Given the description of an element on the screen output the (x, y) to click on. 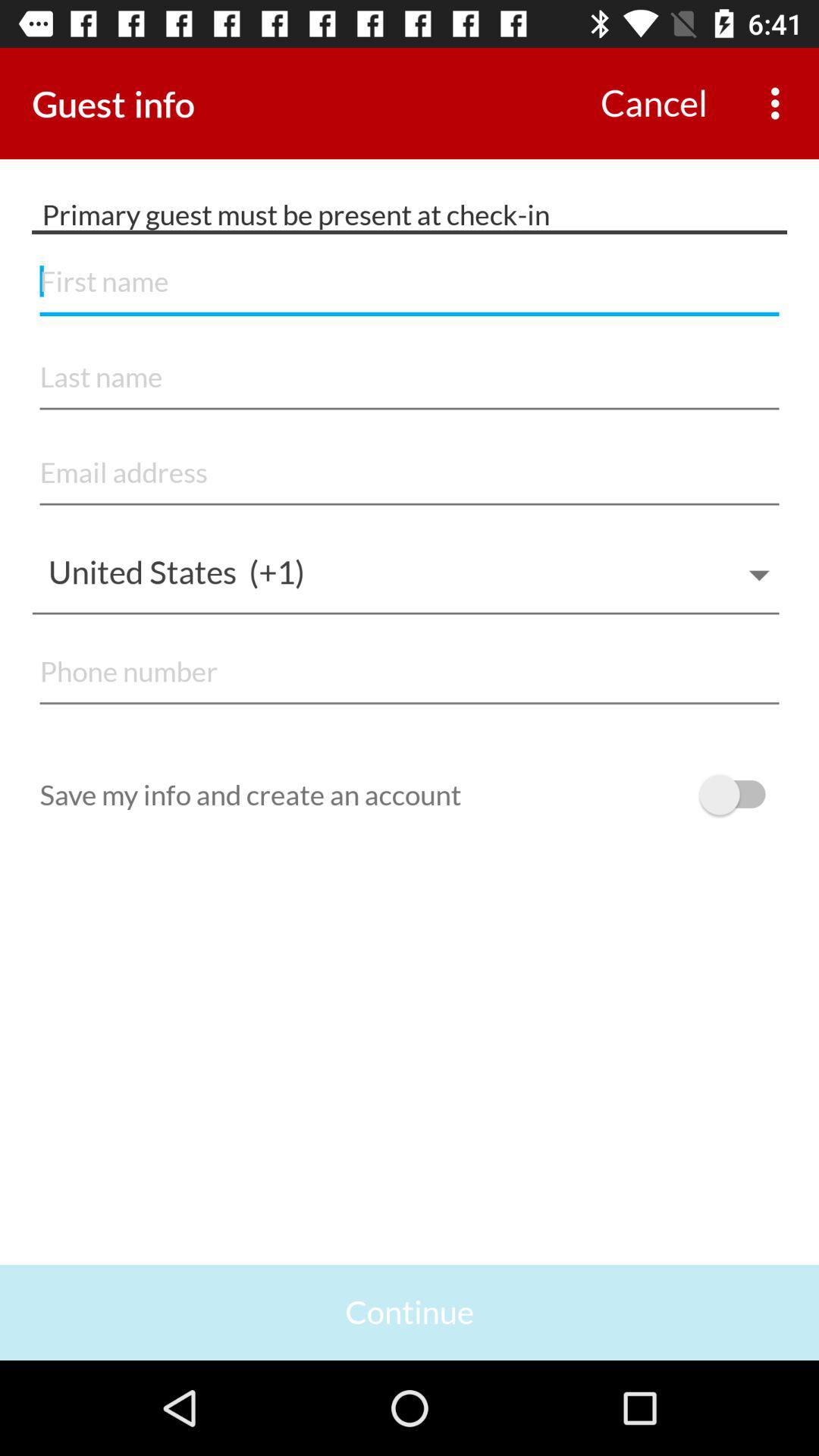
toggle guest option for information storage and account creation (739, 794)
